Given the description of an element on the screen output the (x, y) to click on. 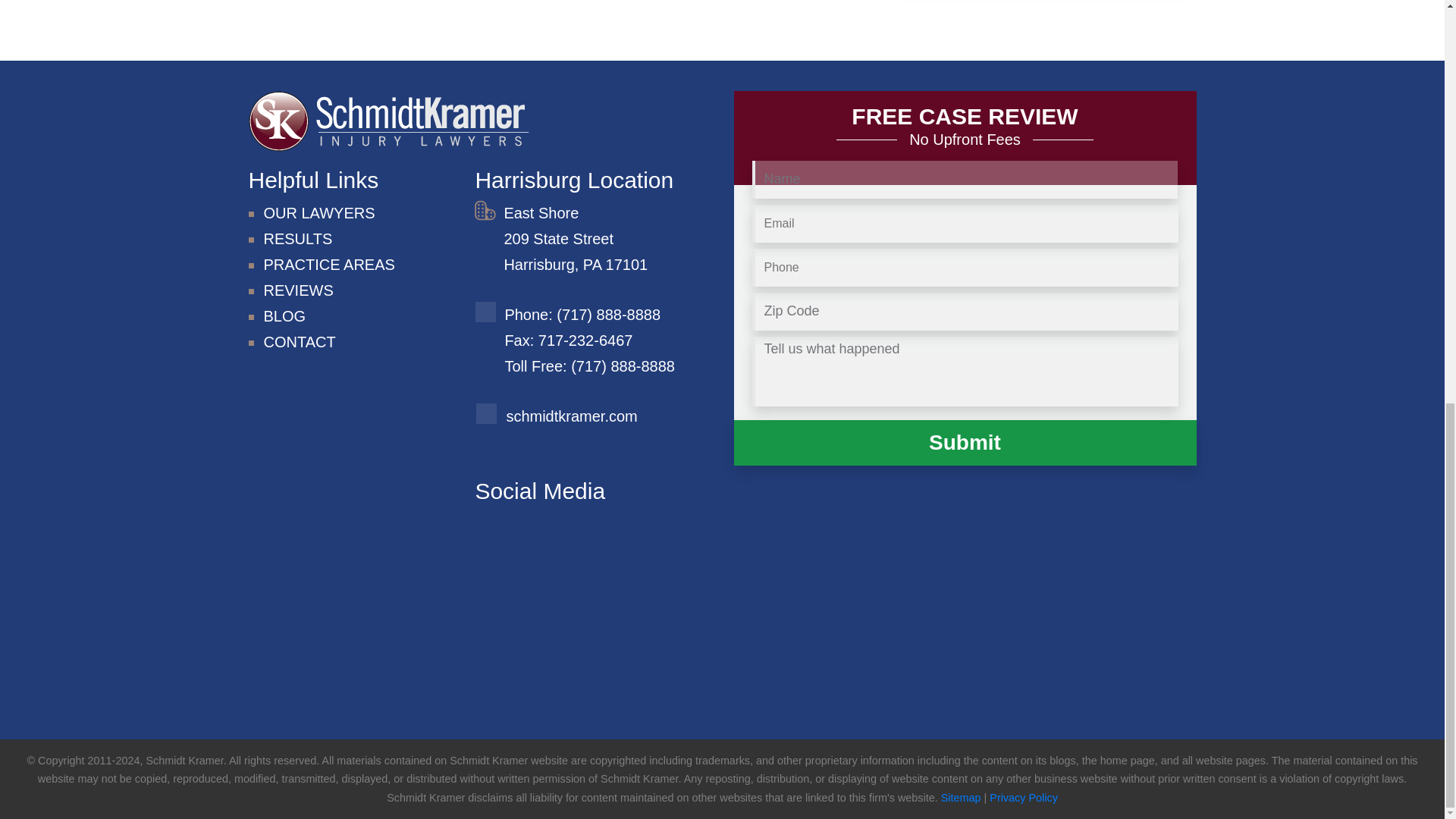
Submit (964, 443)
